Given the description of an element on the screen output the (x, y) to click on. 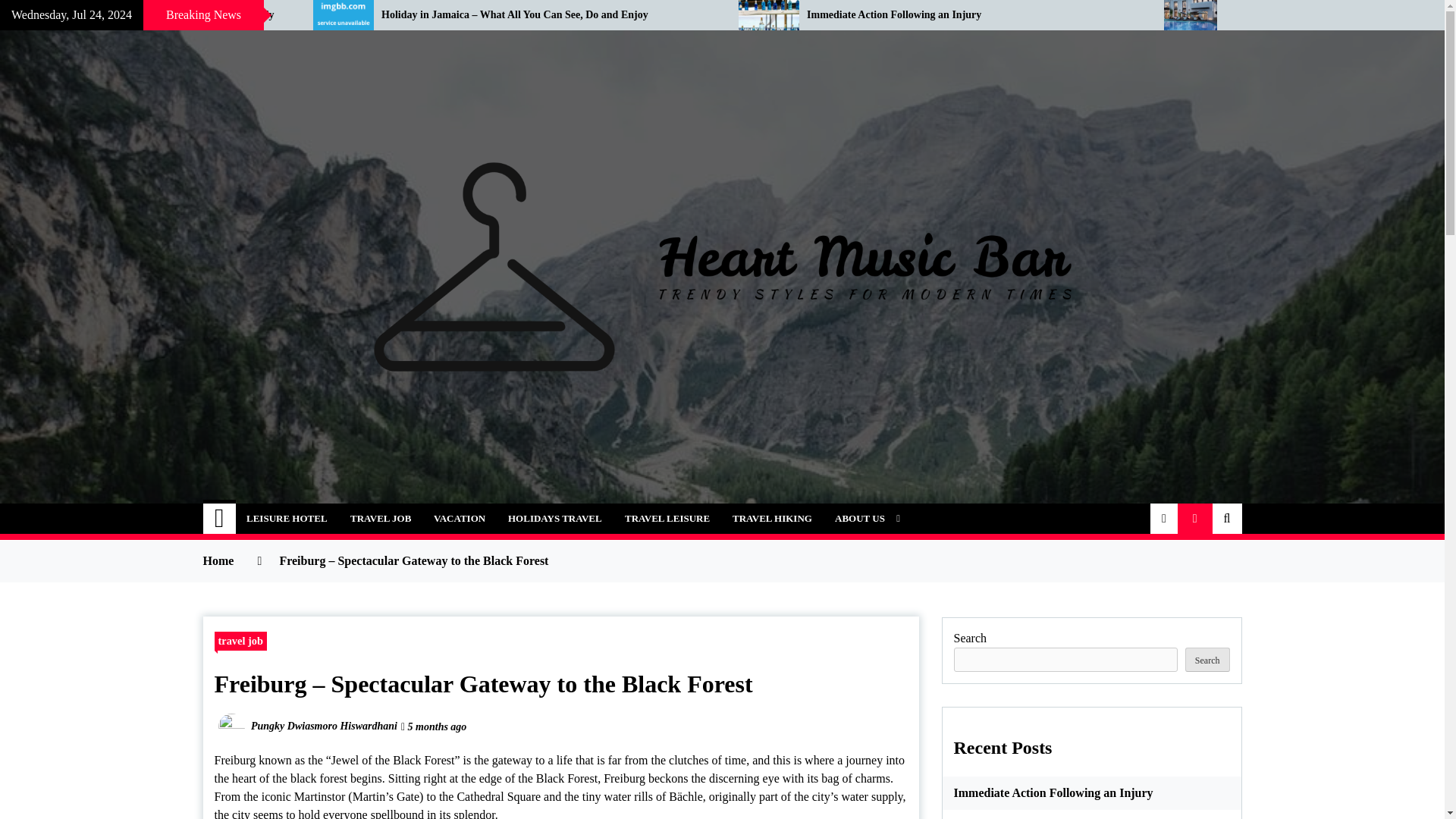
Immediate Action Following an Injury (973, 15)
Home (219, 518)
